Given the description of an element on the screen output the (x, y) to click on. 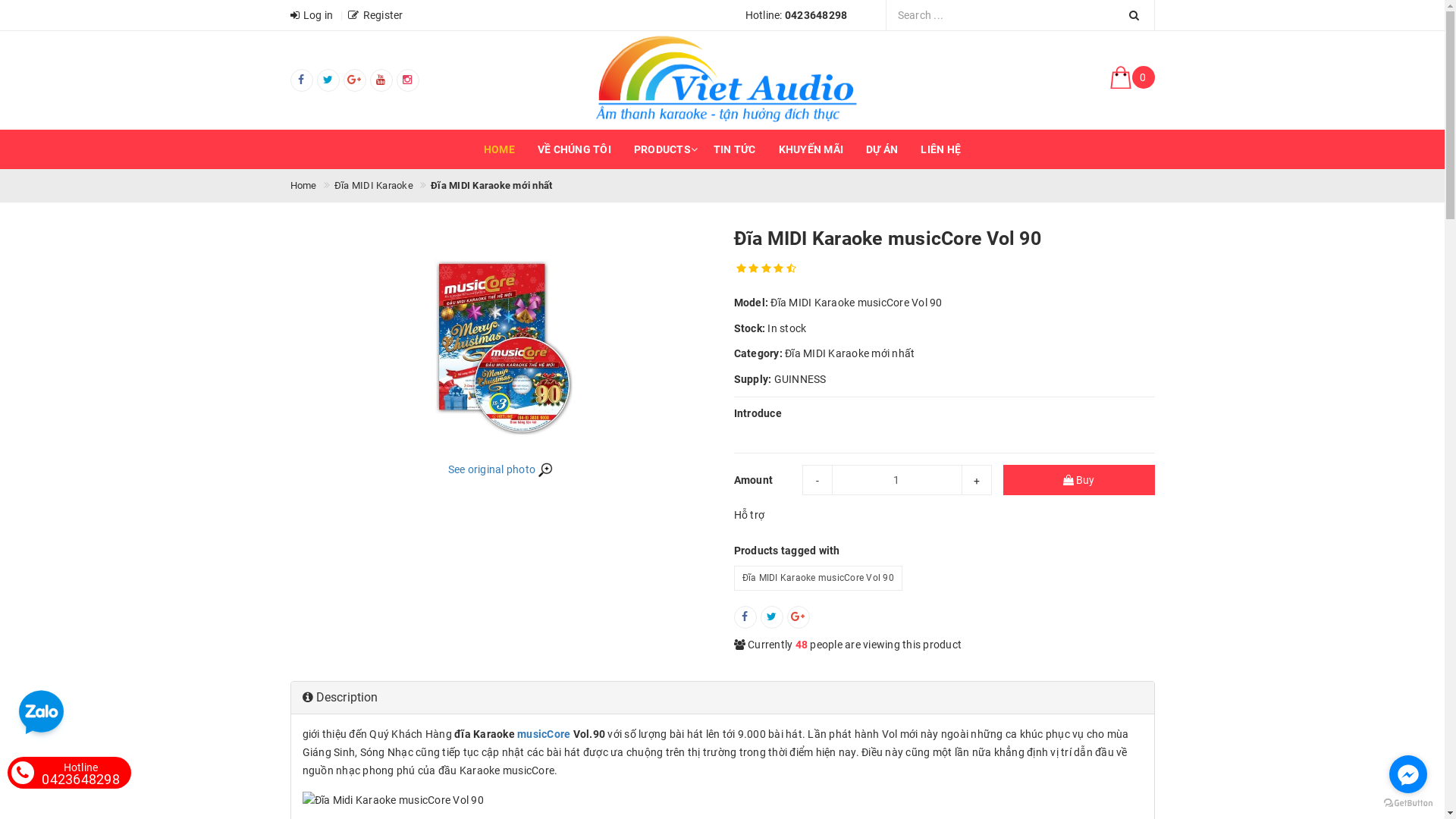
bam vao xem anh goc Element type: hover (499, 341)
gorgeous Element type: hover (778, 269)
Register Element type: text (375, 15)
0423648298 Element type: text (815, 15)
logo Element type: hover (721, 80)
- Element type: text (817, 479)
See original photo Element type: text (500, 469)
Buy Element type: text (1078, 479)
PRODUCTS Element type: text (662, 149)
gorgeous Element type: hover (766, 269)
Log in Element type: text (310, 15)
HOME Element type: text (499, 149)
+ Element type: text (976, 479)
gorgeous Element type: hover (753, 269)
0 Element type: text (1017, 79)
gorgeous Element type: hover (766, 269)
gorgeous Element type: hover (740, 269)
zalo Element type: hover (40, 714)
gorgeous Element type: hover (790, 269)
musicCore Element type: text (543, 734)
keyword Element type: hover (1019, 15)
Description Element type: text (339, 697)
Hotline
0423648298 Element type: text (80, 772)
Home Element type: text (302, 185)
